Given the description of an element on the screen output the (x, y) to click on. 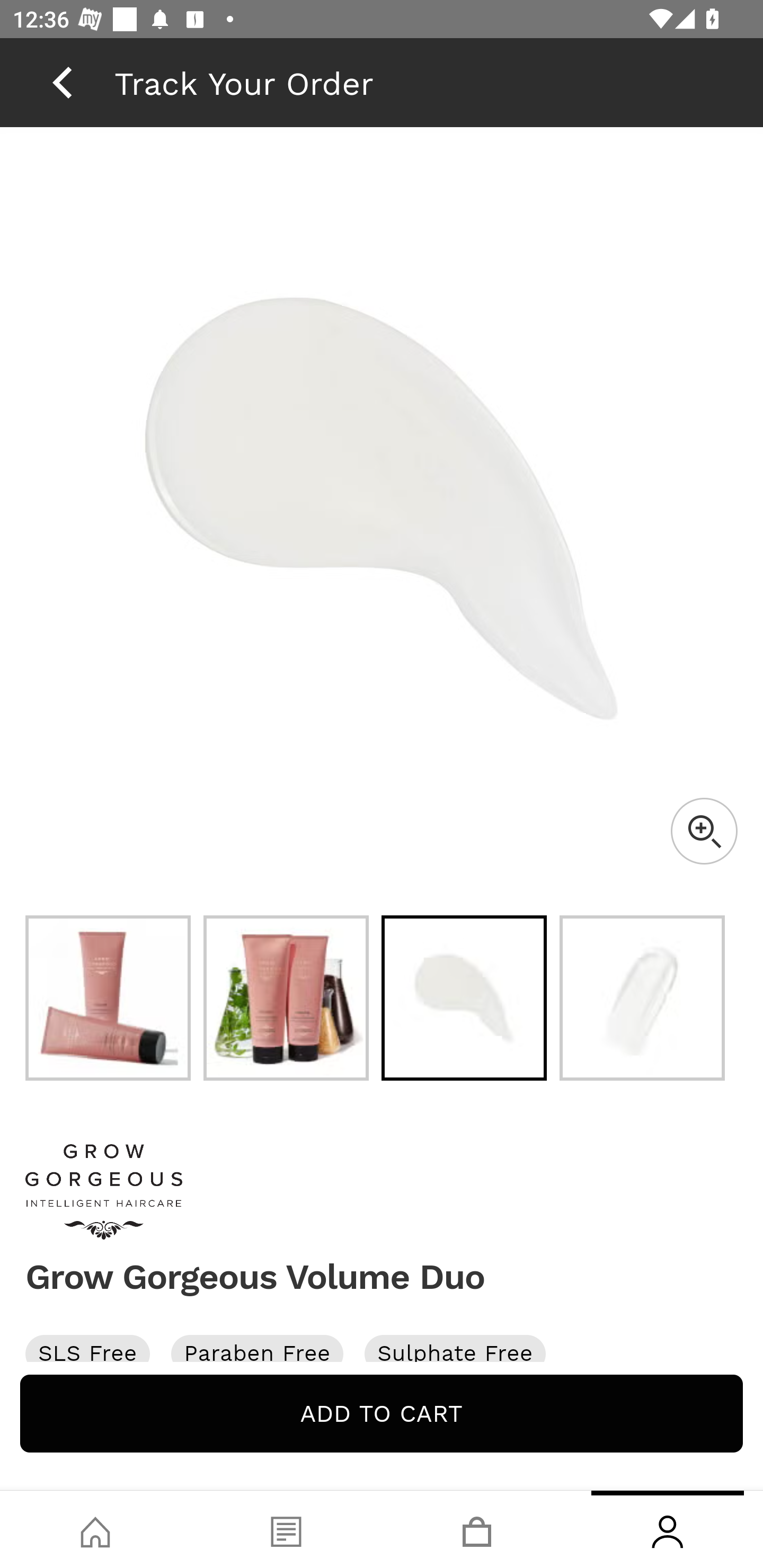
back (61, 82)
Zoom (703, 830)
Open image 1 - Grow Gorgeous Volume Duo (107, 997)
Open image 2 - Grow Gorgeous Volume Duo (285, 997)
Open image 3 - Grow Gorgeous Volume Duo (464, 997)
Open image 4 - Grow Gorgeous Volume Duo (641, 997)
Grow Gorgeous (381, 1192)
Add to cart (381, 1413)
Shop, tab, 1 of 4 (95, 1529)
Blog, tab, 2 of 4 (285, 1529)
Basket, tab, 3 of 4 (476, 1529)
Account, tab, 4 of 4 (667, 1529)
